Given the description of an element on the screen output the (x, y) to click on. 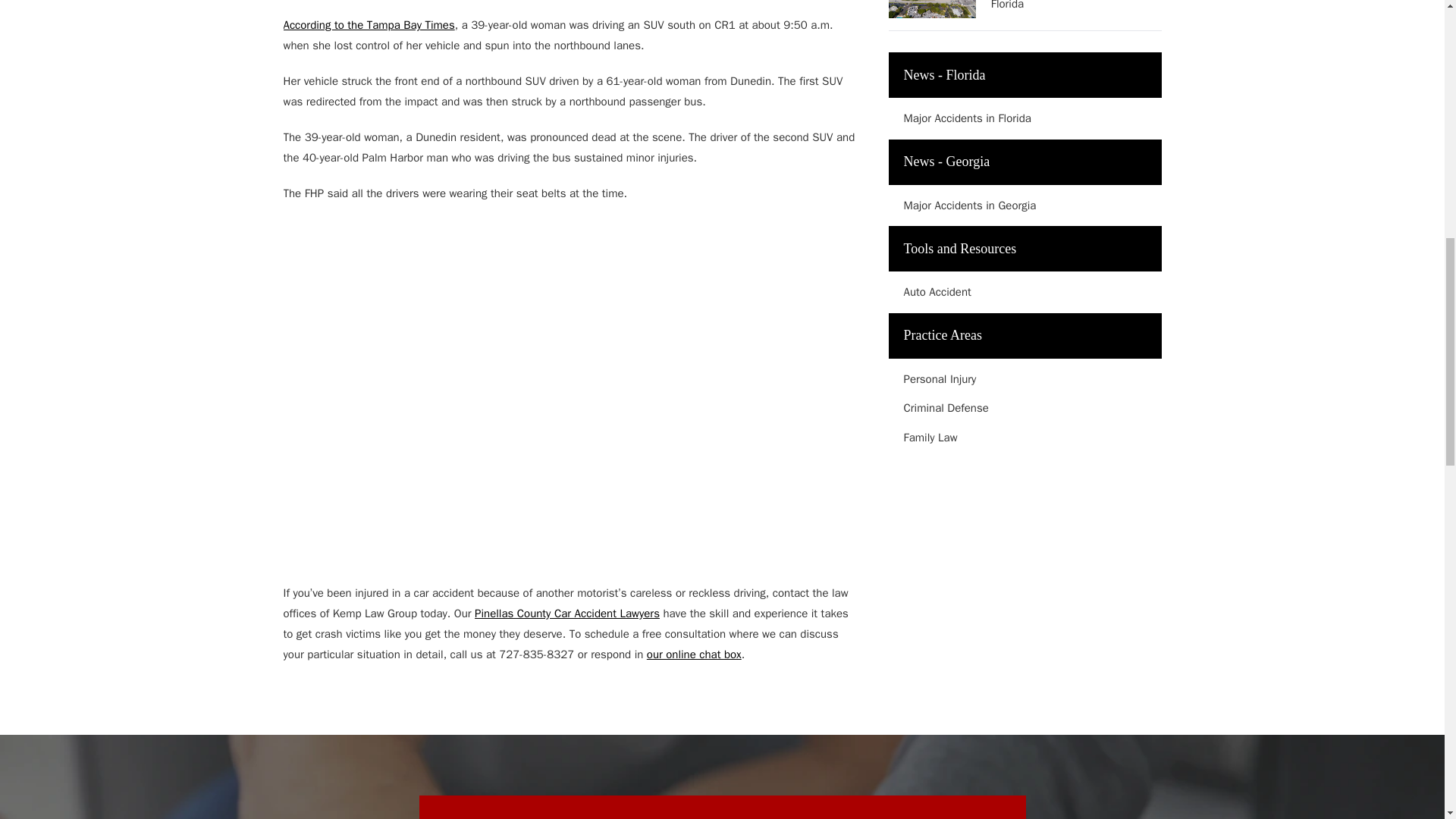
Car Accidents in Poinciana, Florida (1076, 5)
our online chat box (693, 653)
Pinellas County Car Accident Lawyers (566, 612)
According to the Tampa Bay Times (368, 24)
